Given the description of an element on the screen output the (x, y) to click on. 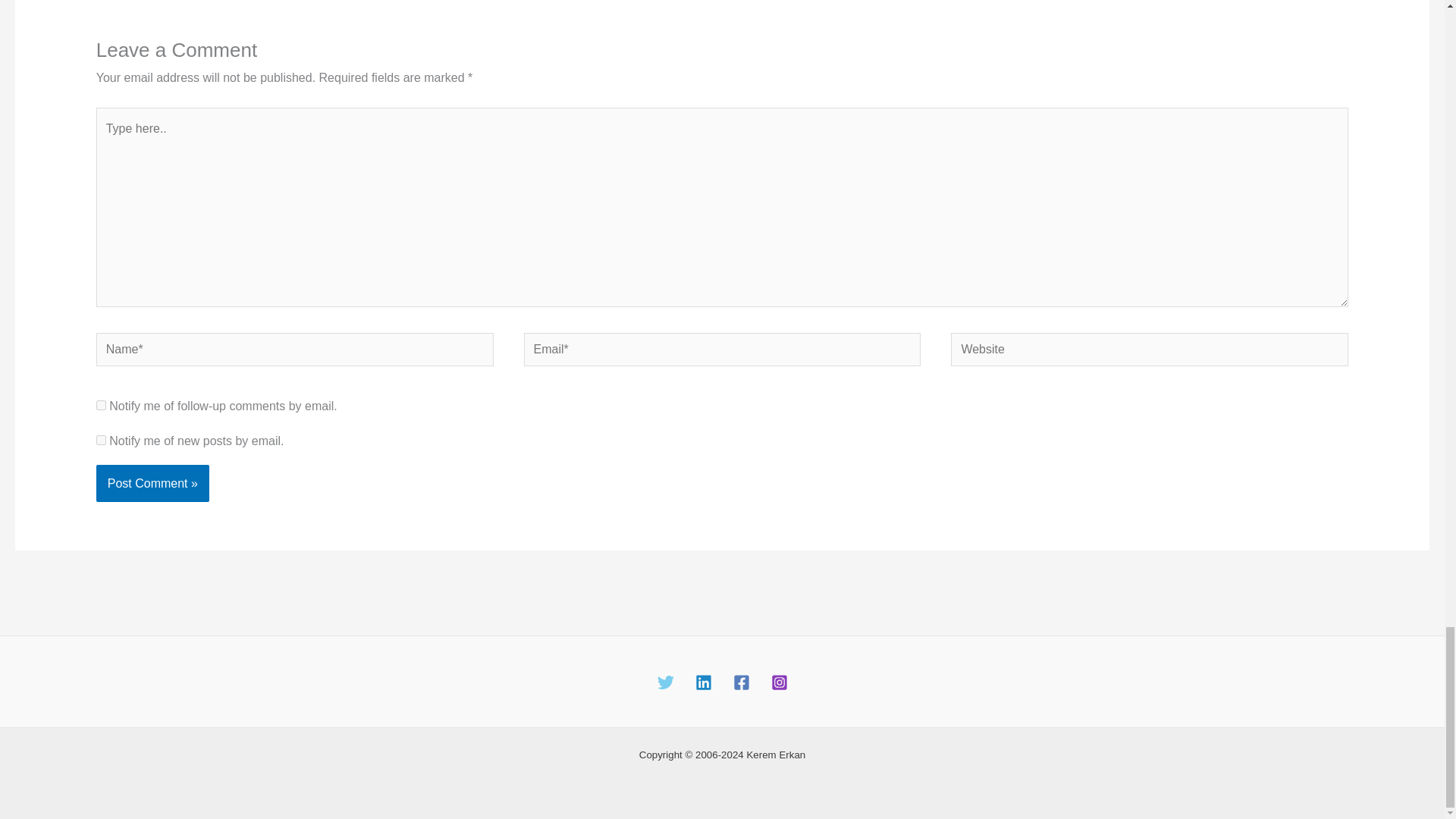
subscribe (101, 439)
subscribe (101, 405)
